Given the description of an element on the screen output the (x, y) to click on. 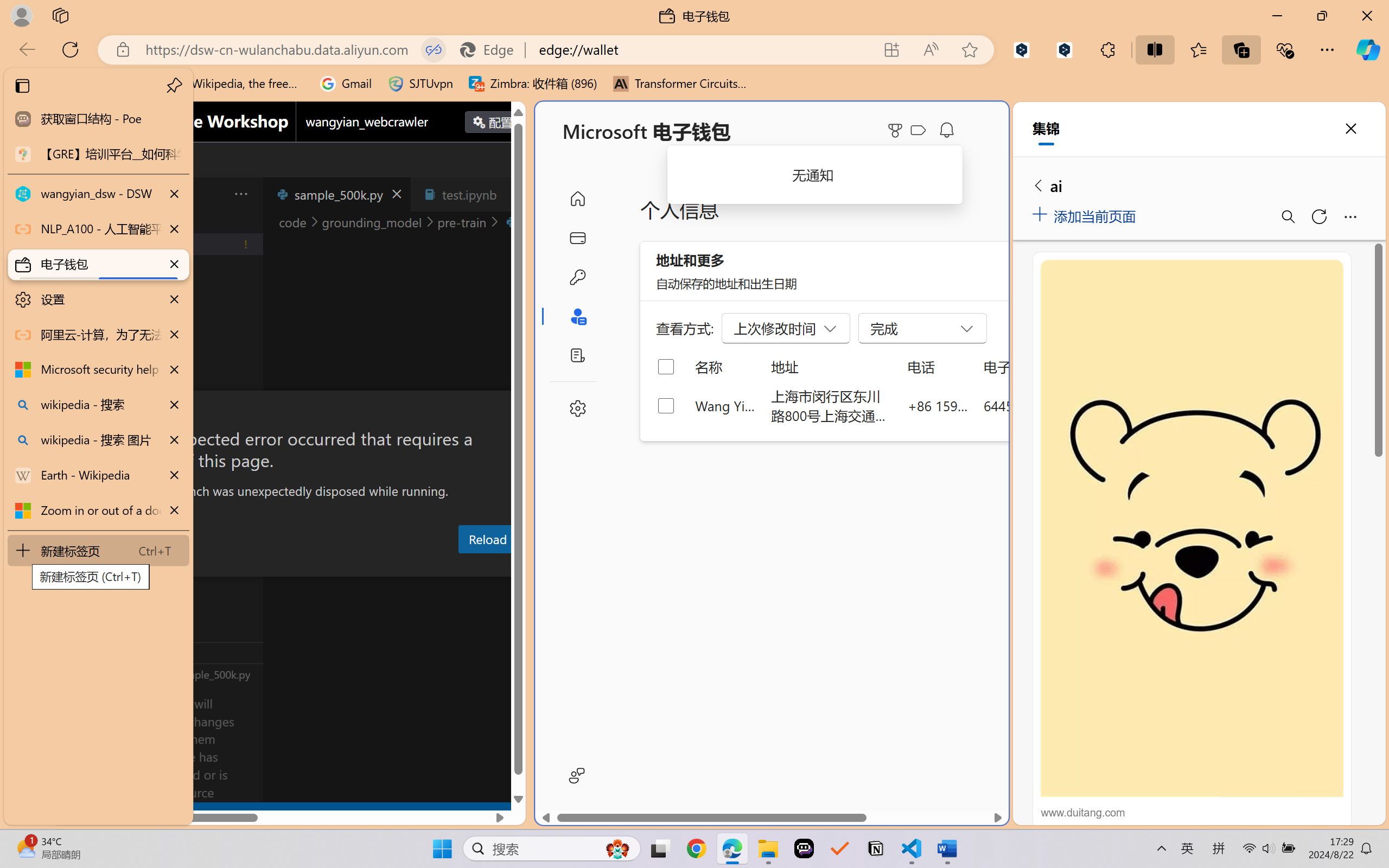
Close (Ctrl+F4) (512, 194)
Reload (486, 538)
Class: ___1lmltc5 f1agt3bx f12qytpq (917, 130)
Views and More Actions... (240, 193)
Edge (492, 49)
